Given the description of an element on the screen output the (x, y) to click on. 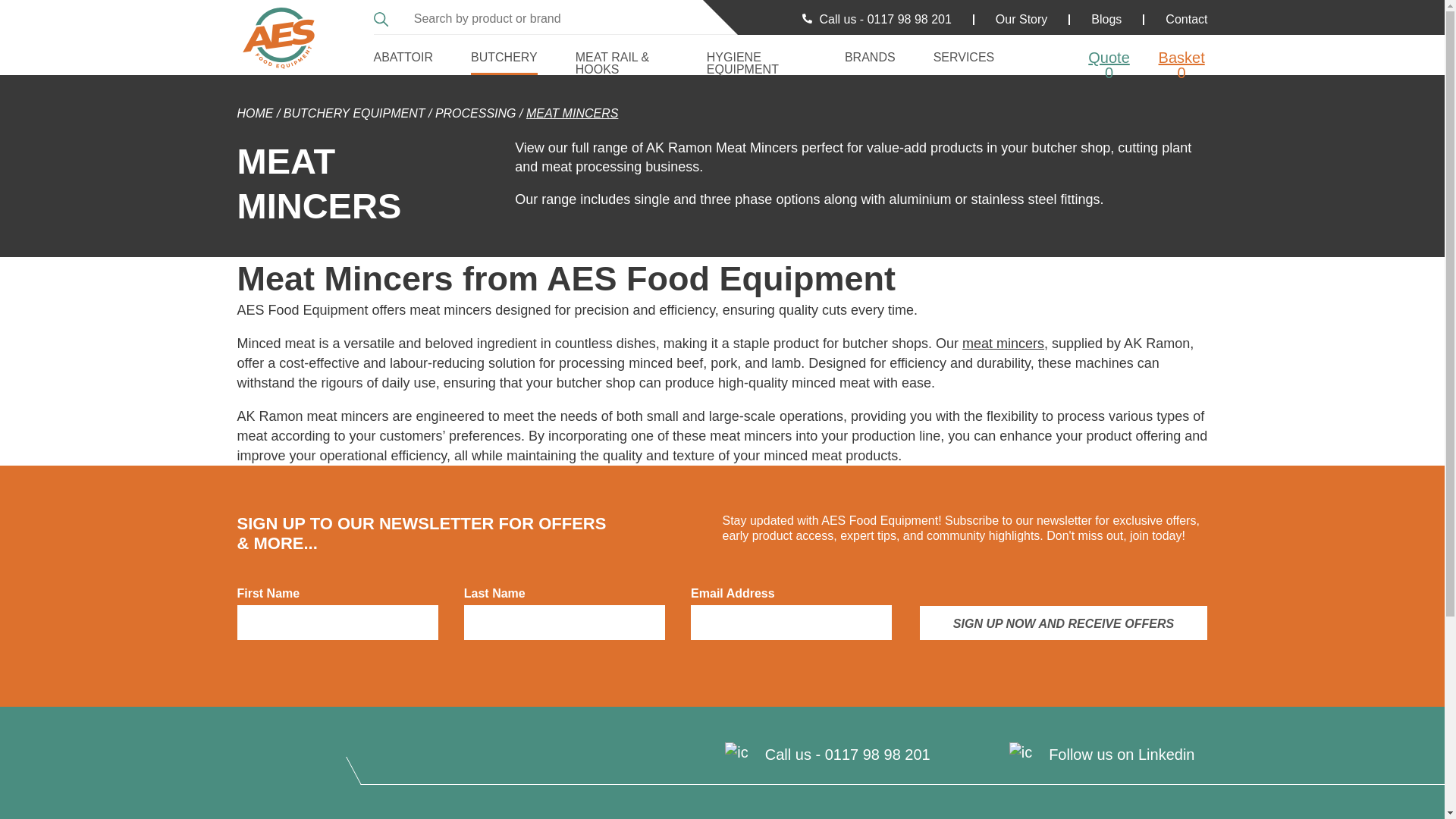
0117 98 98 201 (909, 19)
BUTCHERY (503, 55)
ABATTOIR (402, 55)
Follow us on Linkedin (1120, 754)
Our Story (1020, 19)
Blogs (1105, 19)
0117 98 98 201 (877, 754)
Contact (1186, 19)
